Given the description of an element on the screen output the (x, y) to click on. 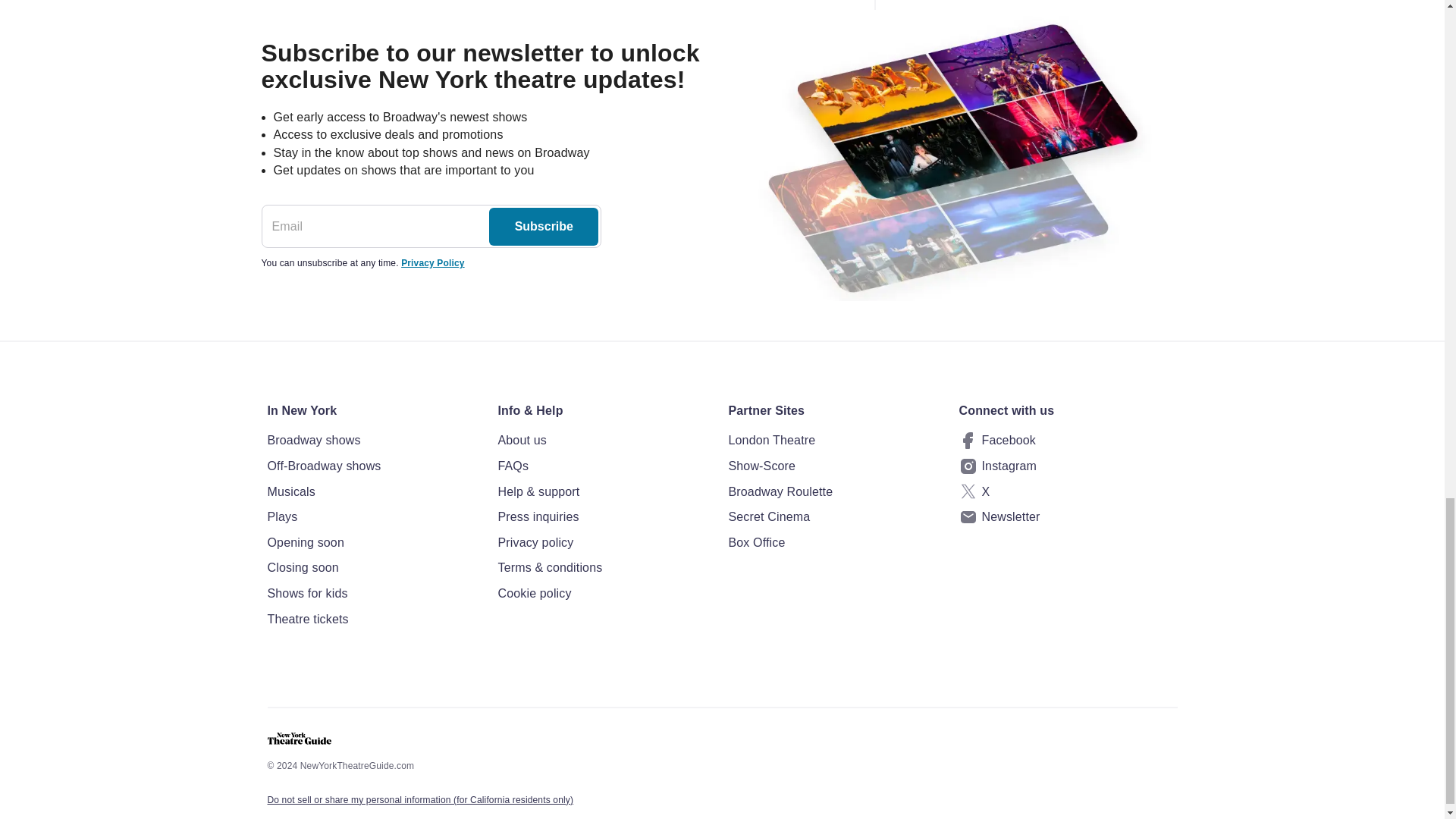
Off-Broadway shows (375, 465)
Opening soon (375, 542)
Musicals (375, 492)
Broadway shows (375, 440)
Plays (375, 516)
Closing soon (375, 567)
Shows for kids (375, 593)
